Given the description of an element on the screen output the (x, y) to click on. 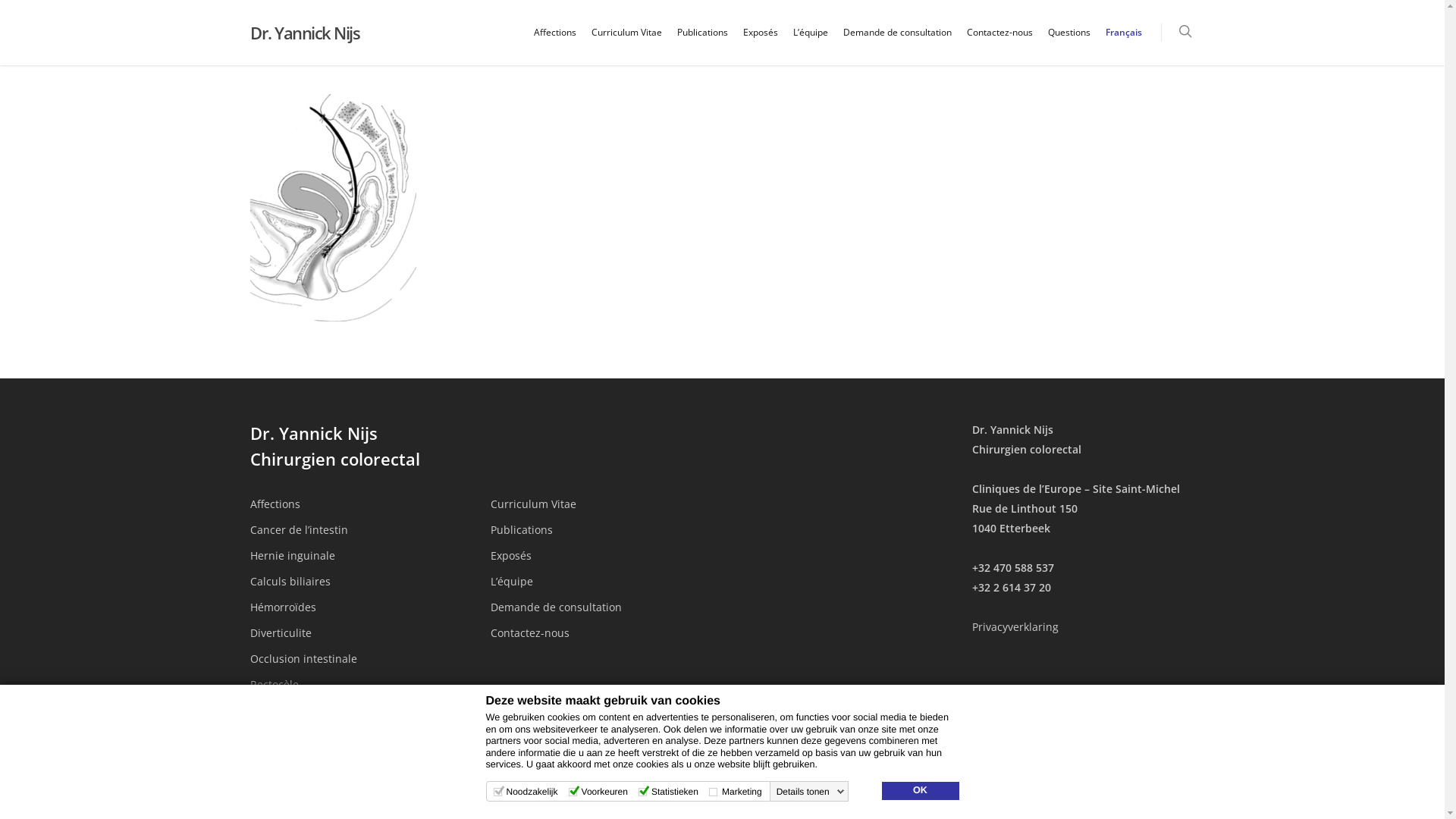
Demande de consultation Element type: text (897, 43)
Demande de consultation Element type: text (601, 607)
Occlusion intestinale Element type: text (361, 658)
Privacyverklaring Element type: text (1015, 626)
Questions Element type: text (1069, 43)
OK Element type: text (919, 790)
Affections Element type: text (554, 43)
Hernie inguinale Element type: text (361, 555)
Publications Element type: text (601, 529)
Contactez-nous Element type: text (601, 633)
Details tonen Element type: text (810, 791)
Calculs biliaires Element type: text (361, 581)
Curriculum Vitae Element type: text (626, 43)
Contactez-nous Element type: text (999, 43)
Dr. Yannick Nijs Element type: text (304, 32)
Curriculum Vitae Element type: text (601, 504)
Publications Element type: text (702, 43)
Affections Element type: text (361, 504)
Diverticulite Element type: text (361, 633)
